Given the description of an element on the screen output the (x, y) to click on. 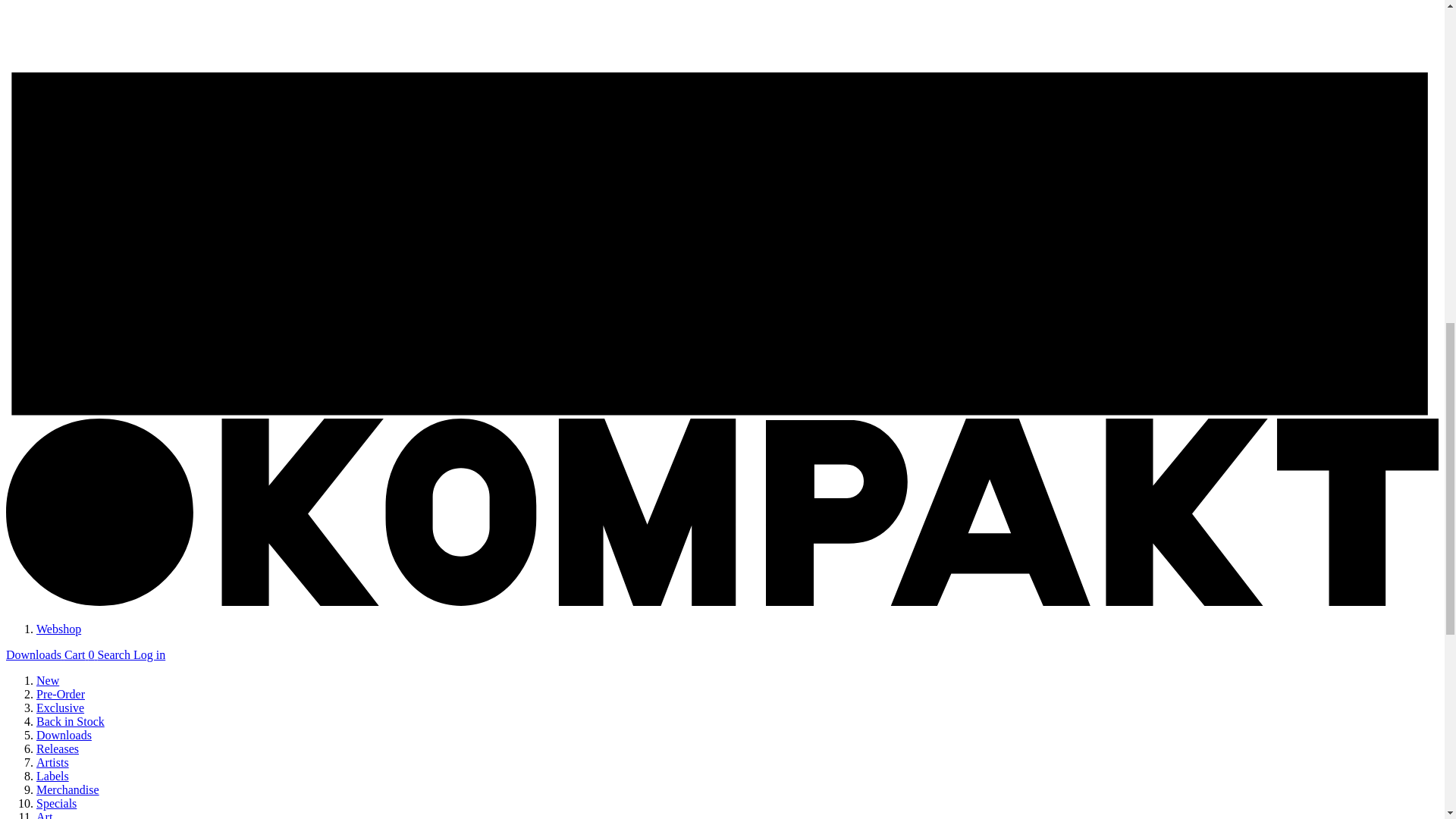
Exclusive (60, 707)
Artists (52, 762)
Search (115, 654)
Log in (149, 654)
Downloads (34, 654)
Art (44, 814)
Log in (149, 654)
Cart 0 (80, 654)
Webshop (58, 628)
New (47, 680)
Pre-Order (60, 694)
Releases (57, 748)
Merchandise (67, 789)
Downloads (63, 735)
Back in Stock (70, 721)
